Given the description of an element on the screen output the (x, y) to click on. 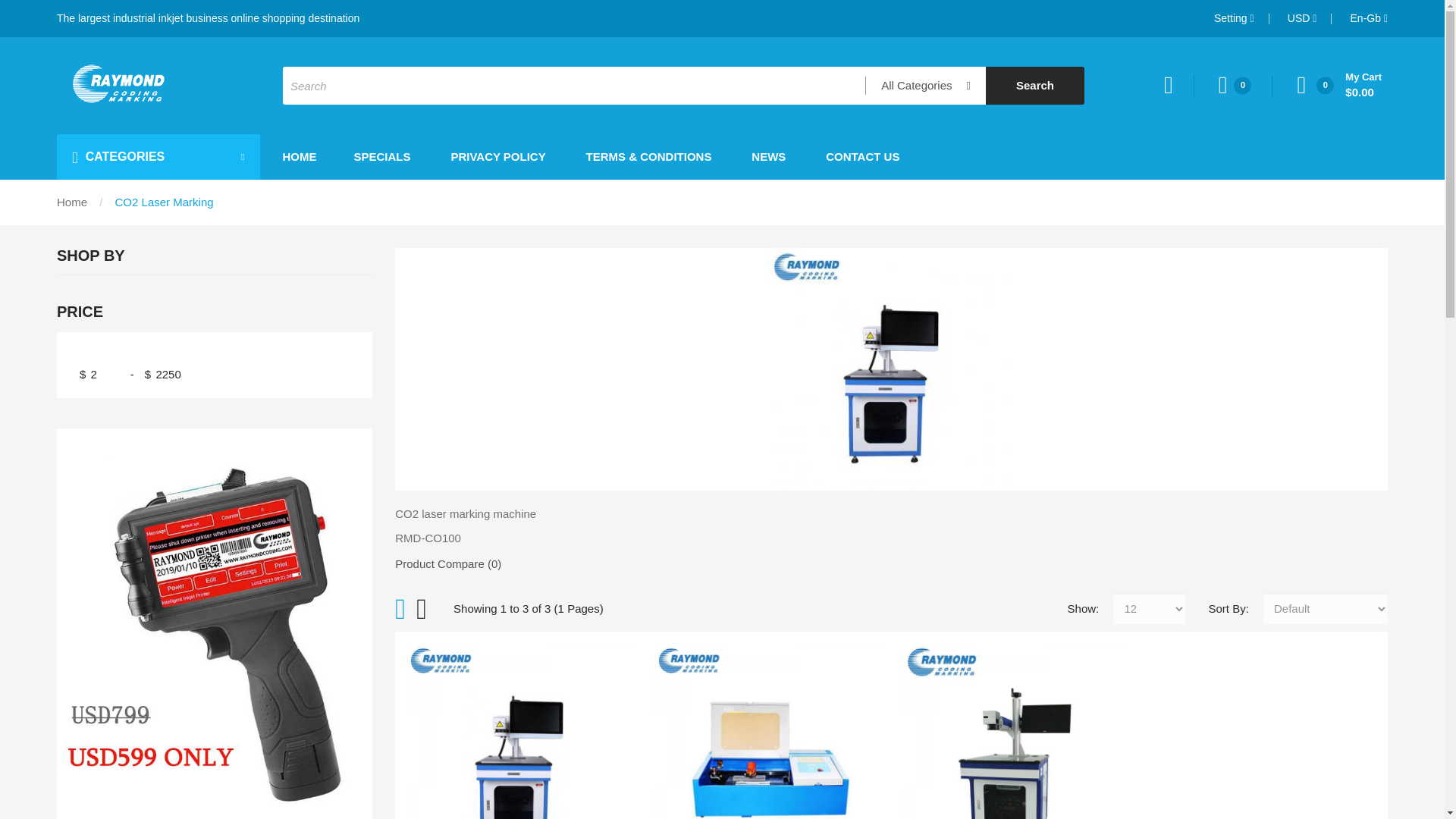
CO2 Laser Marking Machine RMD-CO100 (518, 730)
En-Gb (1369, 18)
Standard Fiber Laser Marking Machine RMD... (1015, 730)
Setting (1233, 18)
2 (108, 374)
0 (1245, 85)
Wish List (1245, 85)
RAYMOND GROUP (116, 83)
Search (1034, 85)
